Given the description of an element on the screen output the (x, y) to click on. 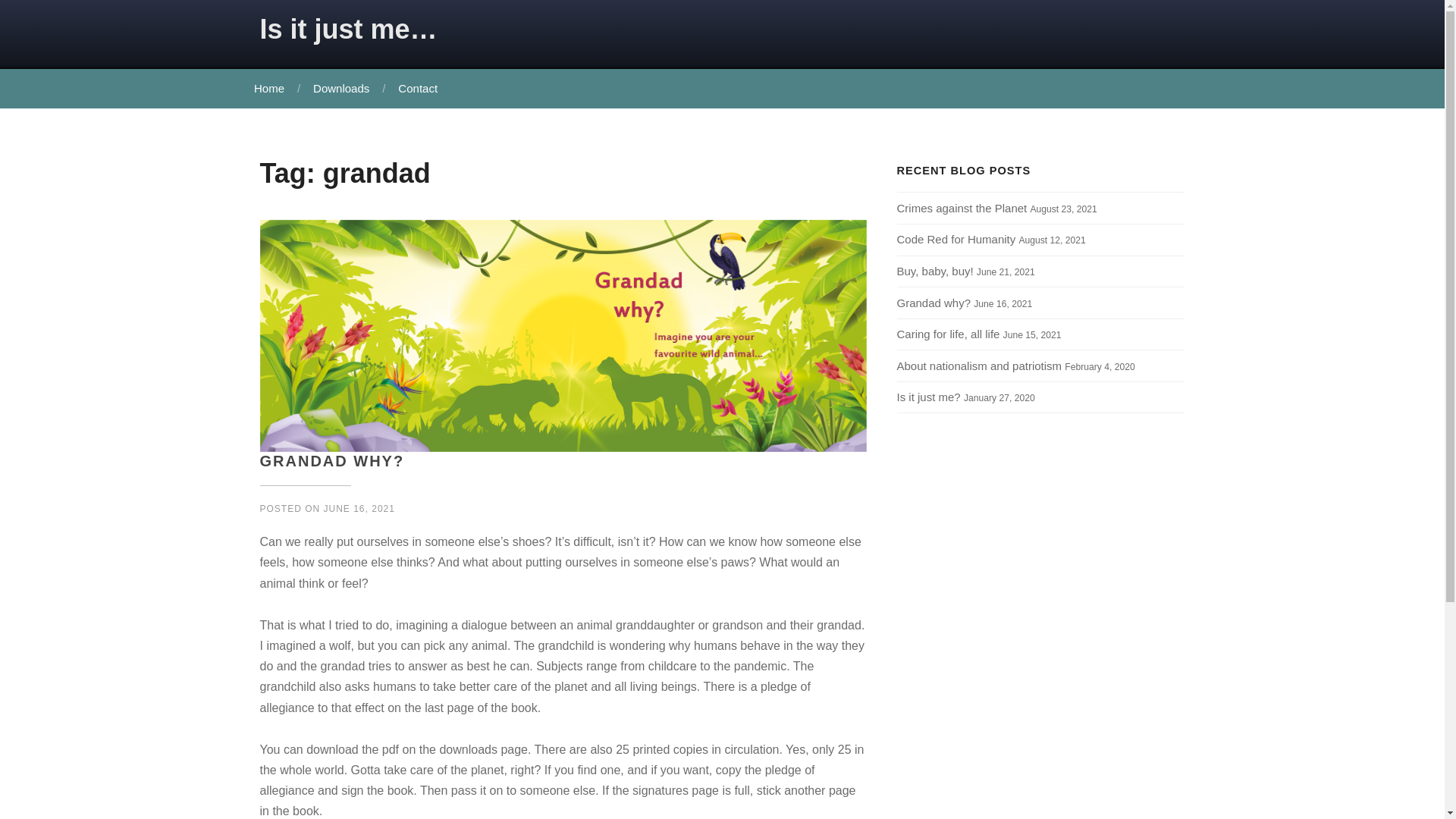
Home (269, 88)
Code Red for Humanity (955, 238)
Grandad why? (933, 302)
Is it just me? (927, 396)
Downloads (339, 88)
Contact (416, 88)
Buy, baby, buy! (934, 270)
About nationalism and patriotism (978, 365)
JUNE 16, 2021 (358, 508)
Crimes against the Planet (961, 207)
GRANDAD WHY? (331, 460)
Caring for life, all life (947, 333)
